Given the description of an element on the screen output the (x, y) to click on. 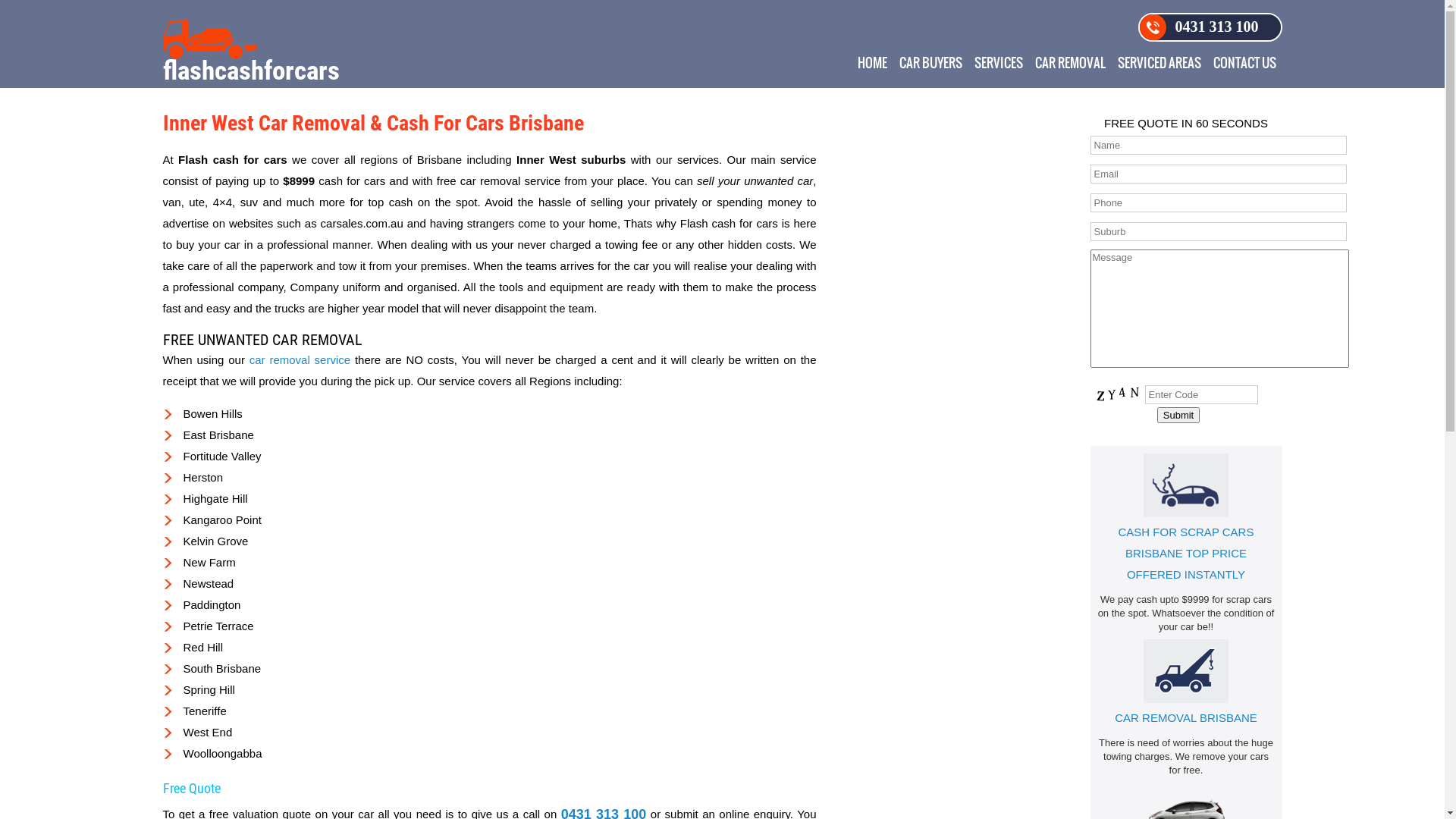
Cash For Scrap Cars Brisbane Top Price offered Instantly Element type: hover (1185, 485)
CAR REMOVAL BRISBANE Element type: text (1185, 717)
CAR REMOVAL Element type: text (1069, 64)
flashcashforcars Element type: text (250, 51)
CONTACT US Element type: text (1244, 64)
SERVICED AREAS Element type: text (1159, 64)
Submit Element type: text (1178, 415)
CAR BUYERS Element type: text (930, 64)
car removal service Element type: text (299, 359)
0431 313 100 Element type: text (1209, 26)
Flash Cash for Cash Element type: hover (209, 39)
HOME Element type: text (871, 64)
Car Removal Brisbane Element type: hover (1185, 670)
SERVICES Element type: text (997, 64)
CASH FOR SCRAP CARS BRISBANE TOP PRICE OFFERED INSTANTLY Element type: text (1186, 552)
